Given the description of an element on the screen output the (x, y) to click on. 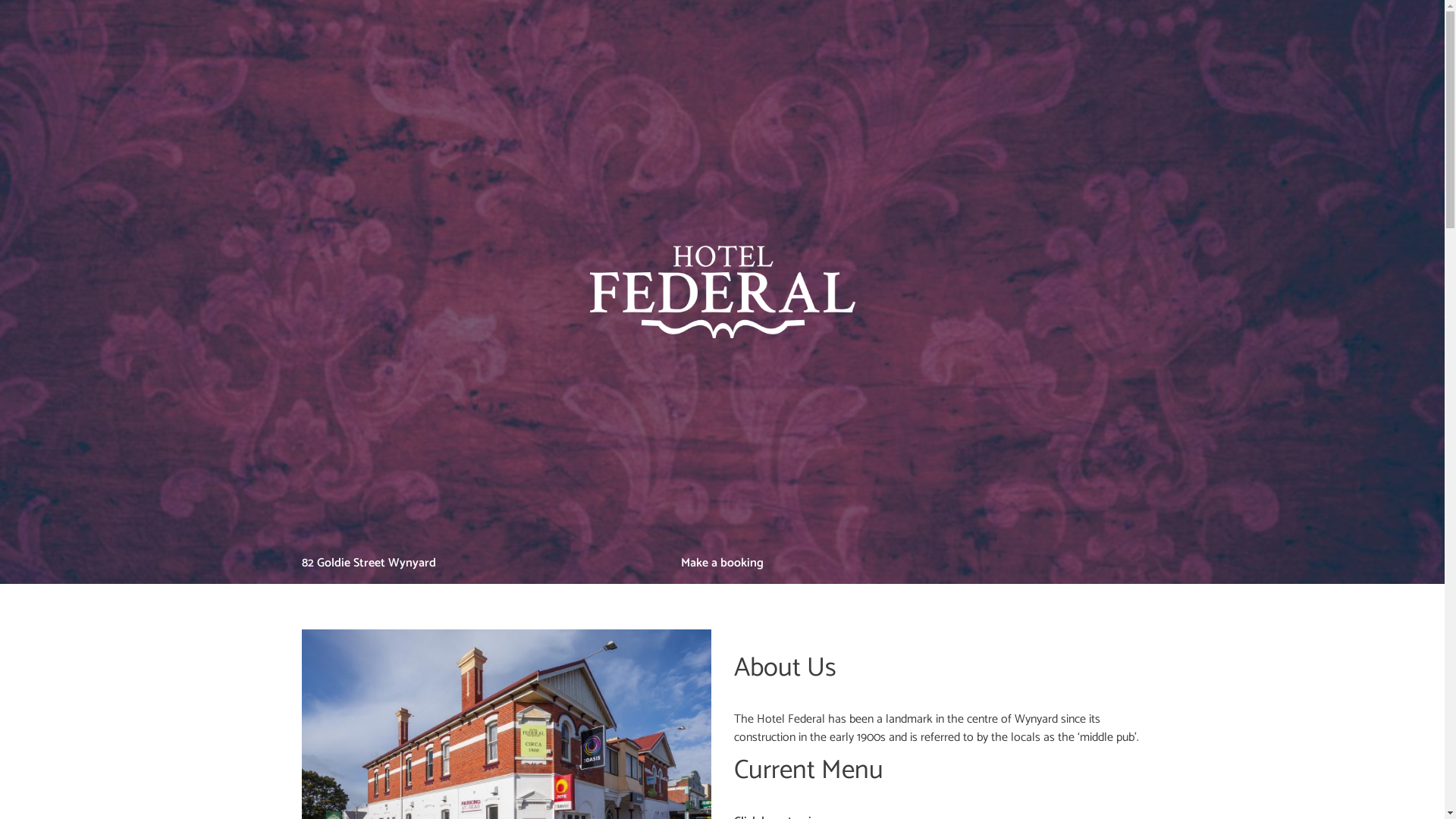
82 Goldie Street Wynyard Element type: text (368, 562)
Make a booking Element type: text (721, 562)
Burger Bar Element type: hover (1136, 562)
